Given the description of an element on the screen output the (x, y) to click on. 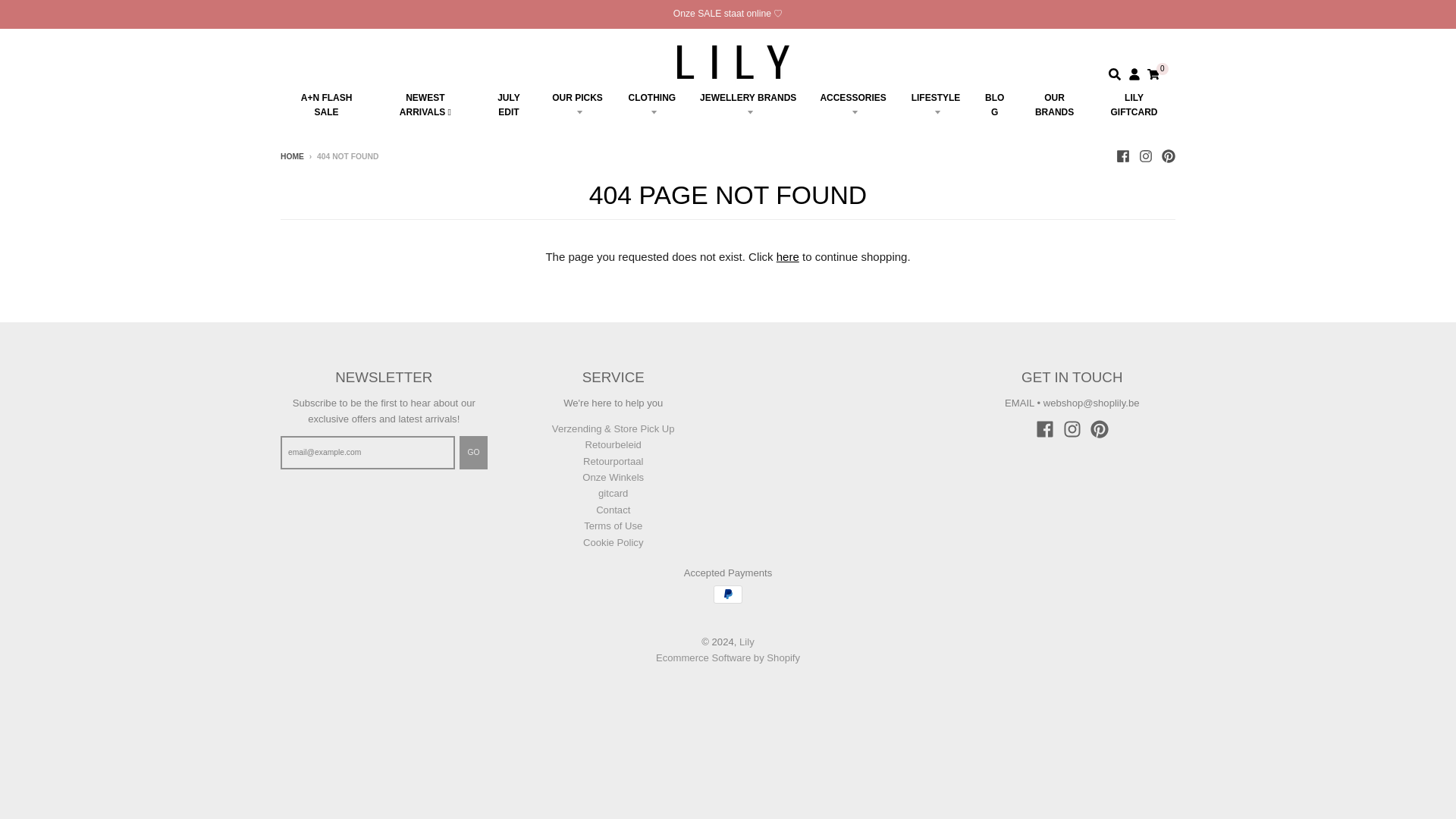
JULY EDIT (509, 104)
Facebook - Lily (1122, 155)
CLOTHING (651, 104)
Back to the frontpage (292, 156)
Facebook - Lily (1044, 429)
Instagram - Lily (1145, 155)
0 (1152, 73)
OUR PICKS (576, 104)
Instagram - Lily (1071, 429)
Pinterest - Lily (1099, 429)
